Given the description of an element on the screen output the (x, y) to click on. 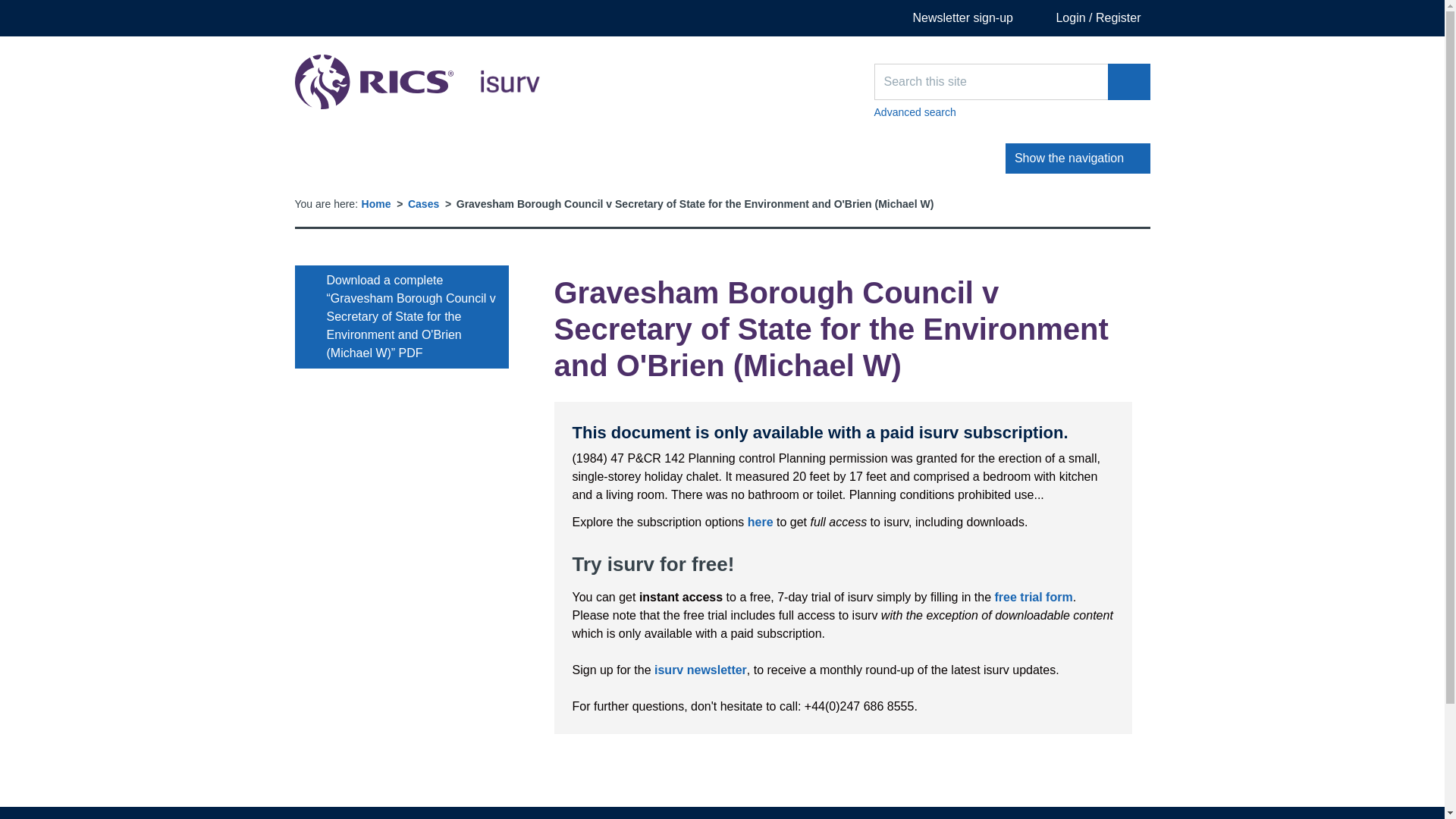
isurv newsletter (699, 669)
Search (1128, 81)
free trial form (1033, 596)
Channels (374, 158)
here (760, 521)
Show the navigation (1078, 158)
Home (376, 203)
Newsletter sign-up (952, 18)
Advanced search (417, 81)
